Given the description of an element on the screen output the (x, y) to click on. 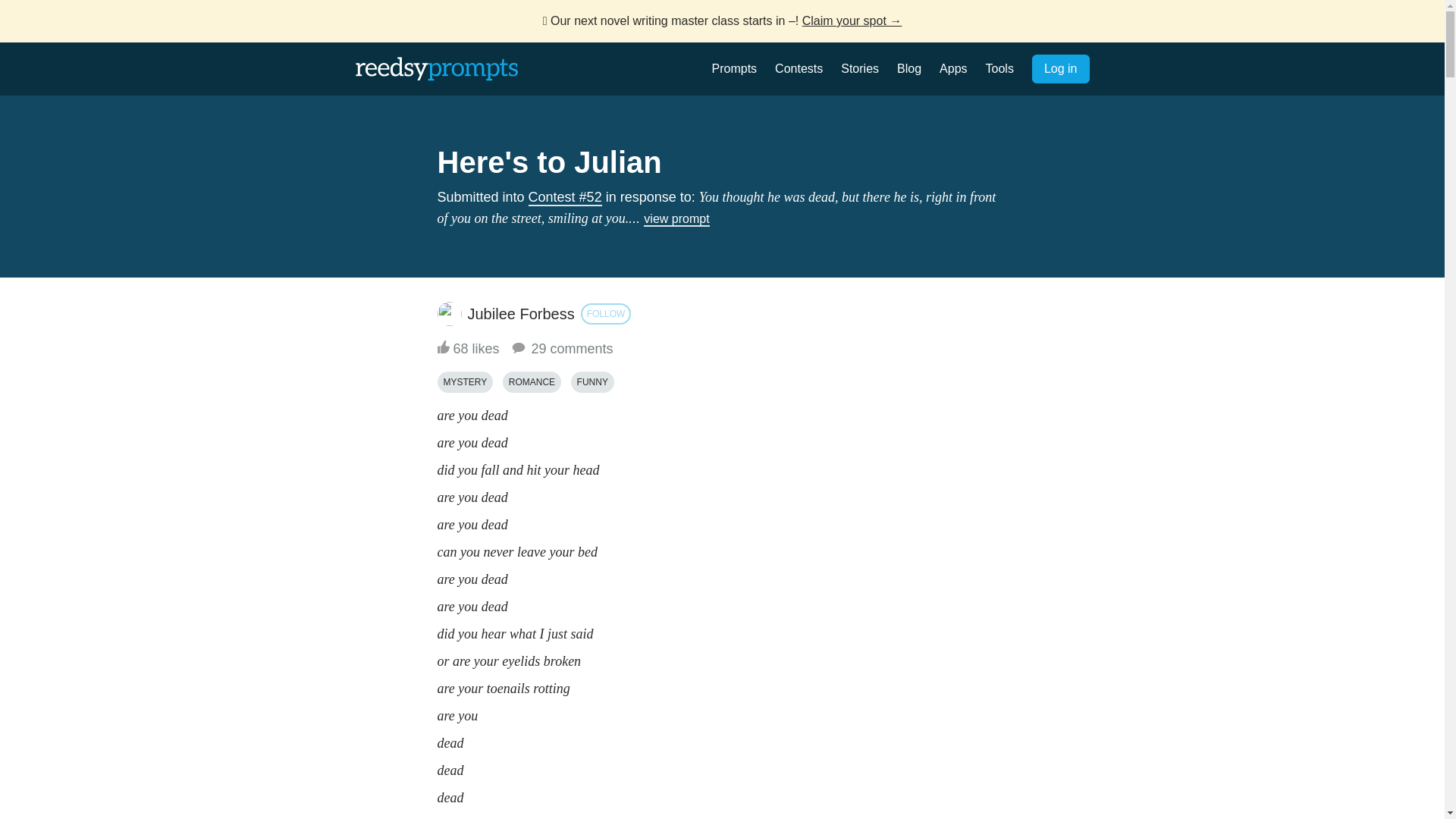
Apps (952, 68)
Blog (908, 68)
Log in (1060, 68)
29 comments (560, 348)
Contests (798, 68)
Stories (860, 68)
Prompts (734, 68)
Tools (999, 68)
